Given the description of an element on the screen output the (x, y) to click on. 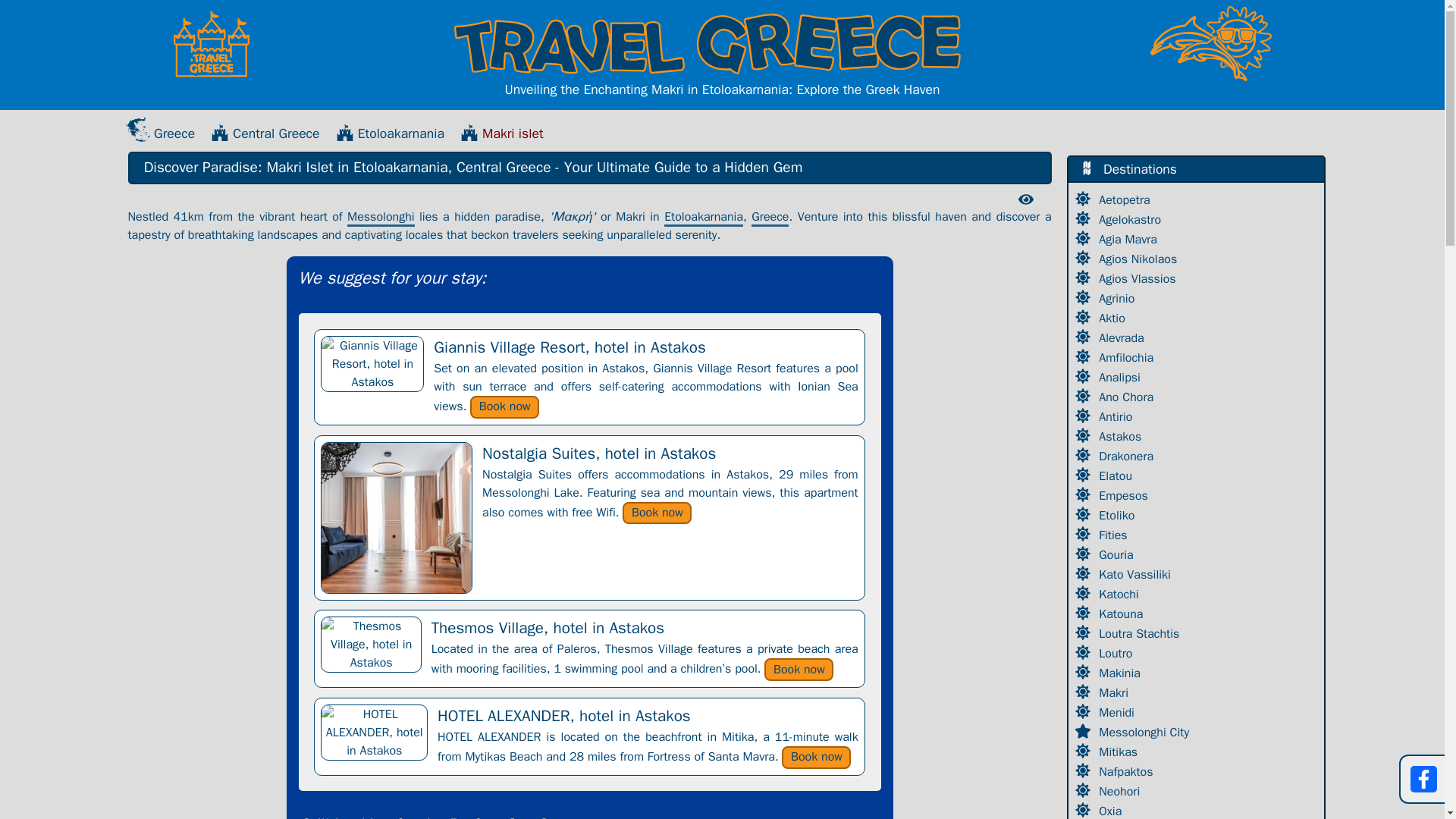
Drakonera (1128, 456)
Alevrada (1123, 337)
Agia Mavra (1129, 239)
Astakos (1121, 436)
Ano Chora (1128, 396)
Aktio (1114, 318)
Greece (160, 133)
Agios Nikolaos (1139, 258)
Antirio (1117, 417)
Amfilochia (1128, 357)
Messolonghi (380, 217)
Greece (770, 217)
Elatou (1117, 476)
Etoloakarnania (390, 133)
Etoloakarnania (702, 217)
